Given the description of an element on the screen output the (x, y) to click on. 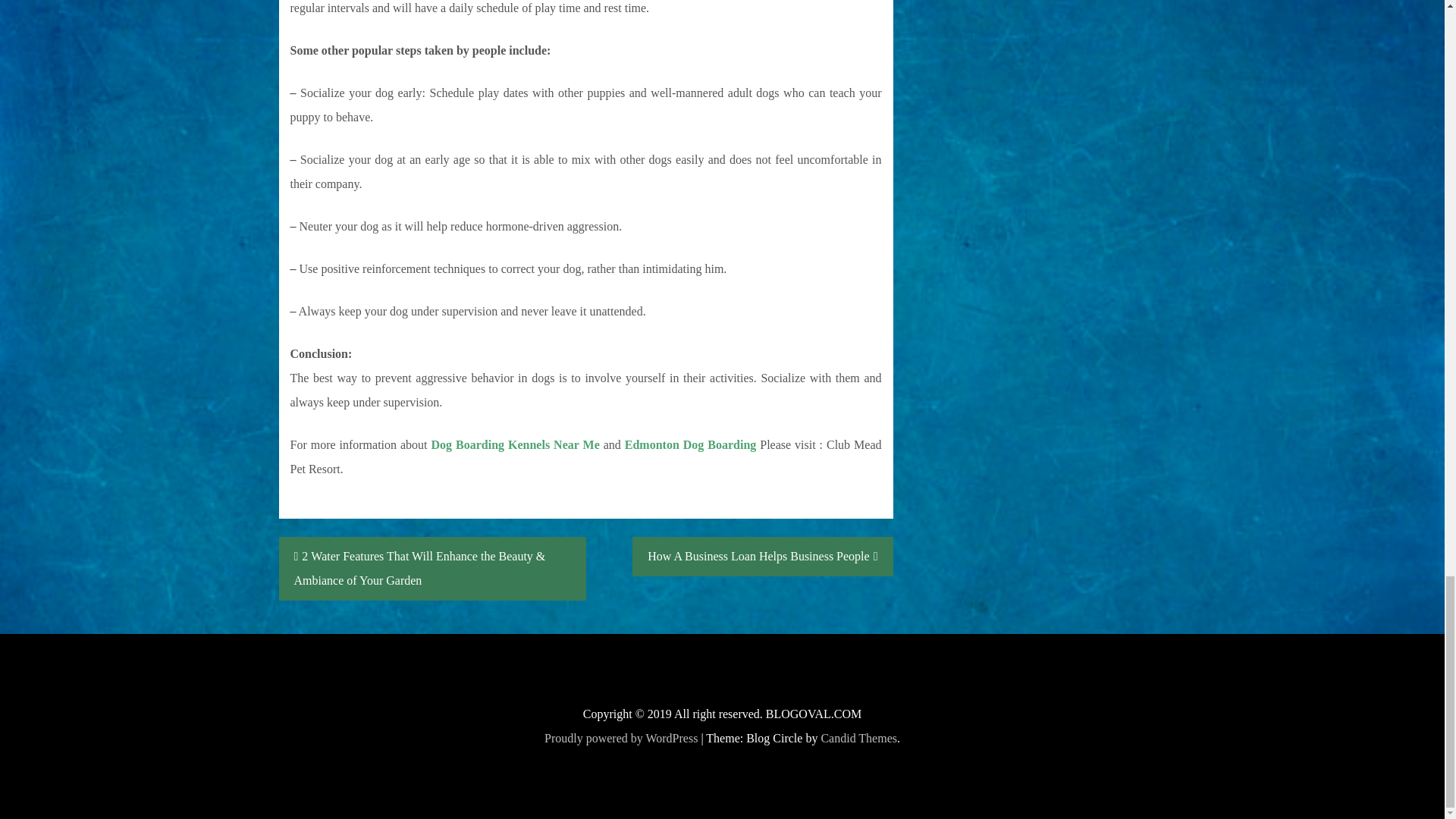
How A Business Loan Helps Business People (761, 556)
Edmonton Dog Boarding (690, 444)
Dog Boarding Kennels Near Me (514, 444)
